Given the description of an element on the screen output the (x, y) to click on. 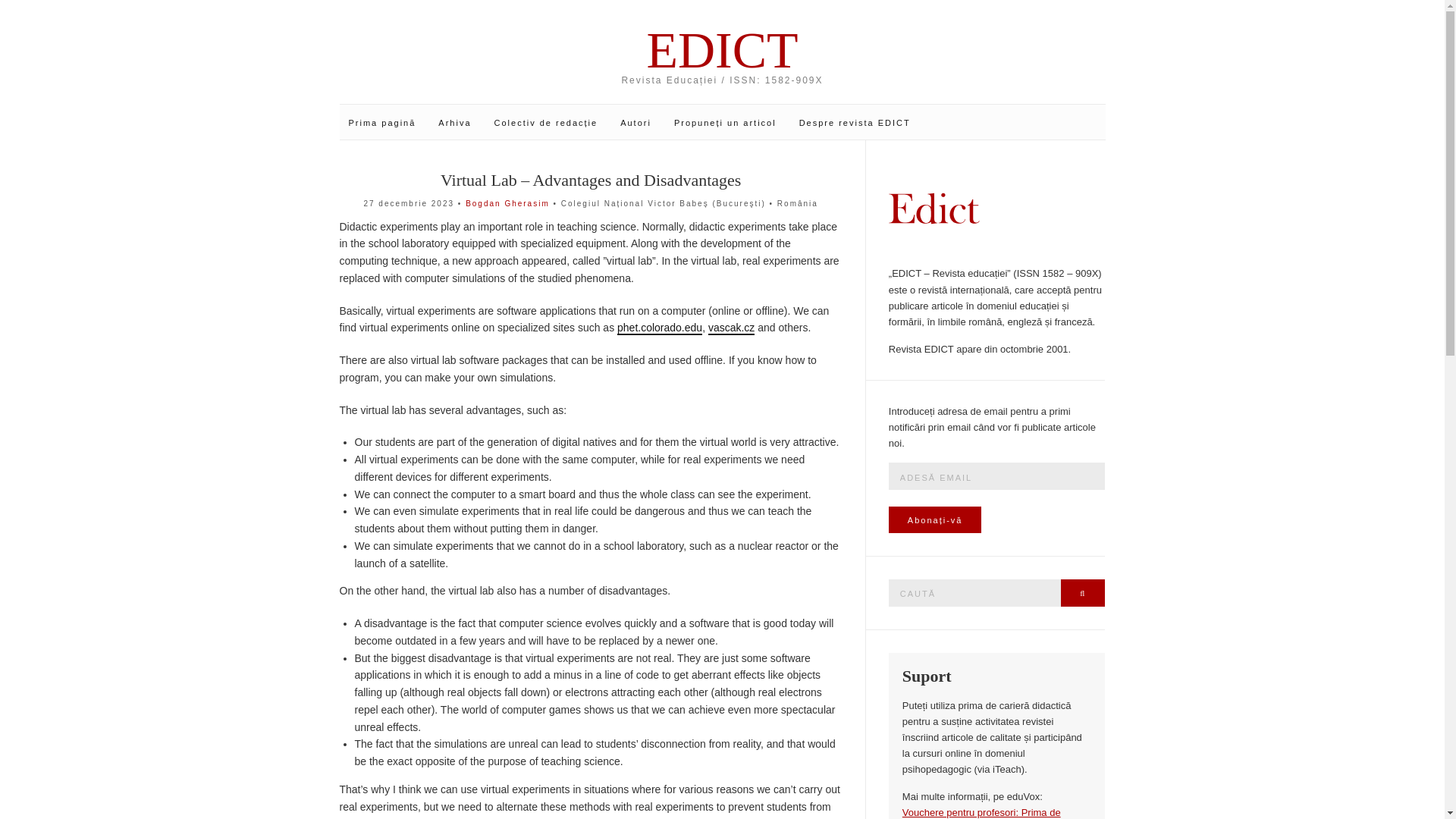
Search (1083, 592)
Arhiva (454, 123)
Bogdan Gherasim (507, 203)
EDICT (722, 49)
Autori (635, 123)
Despre revista EDICT (855, 123)
phet.colorado.edu (659, 327)
vascak.cz (730, 327)
